Given the description of an element on the screen output the (x, y) to click on. 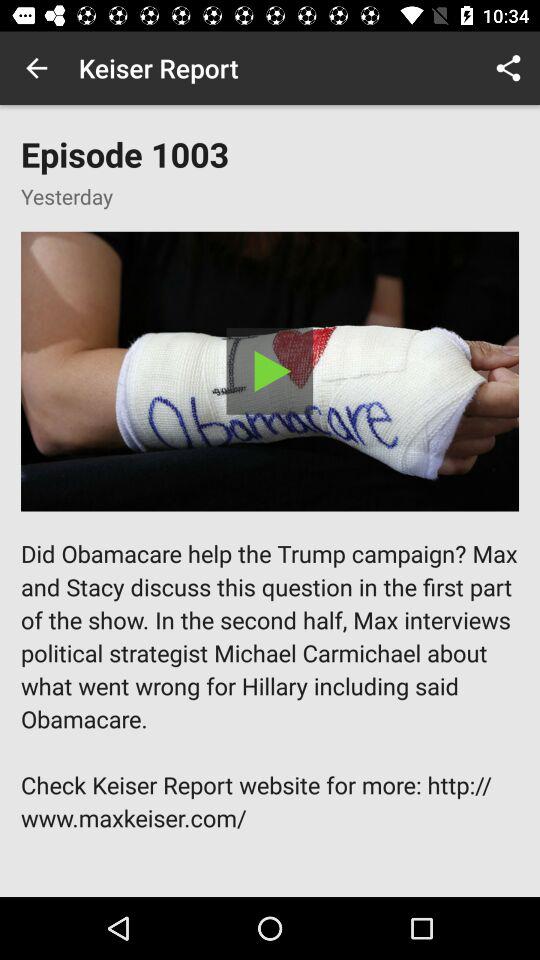
turn on app next to the keiser report item (508, 67)
